Given the description of an element on the screen output the (x, y) to click on. 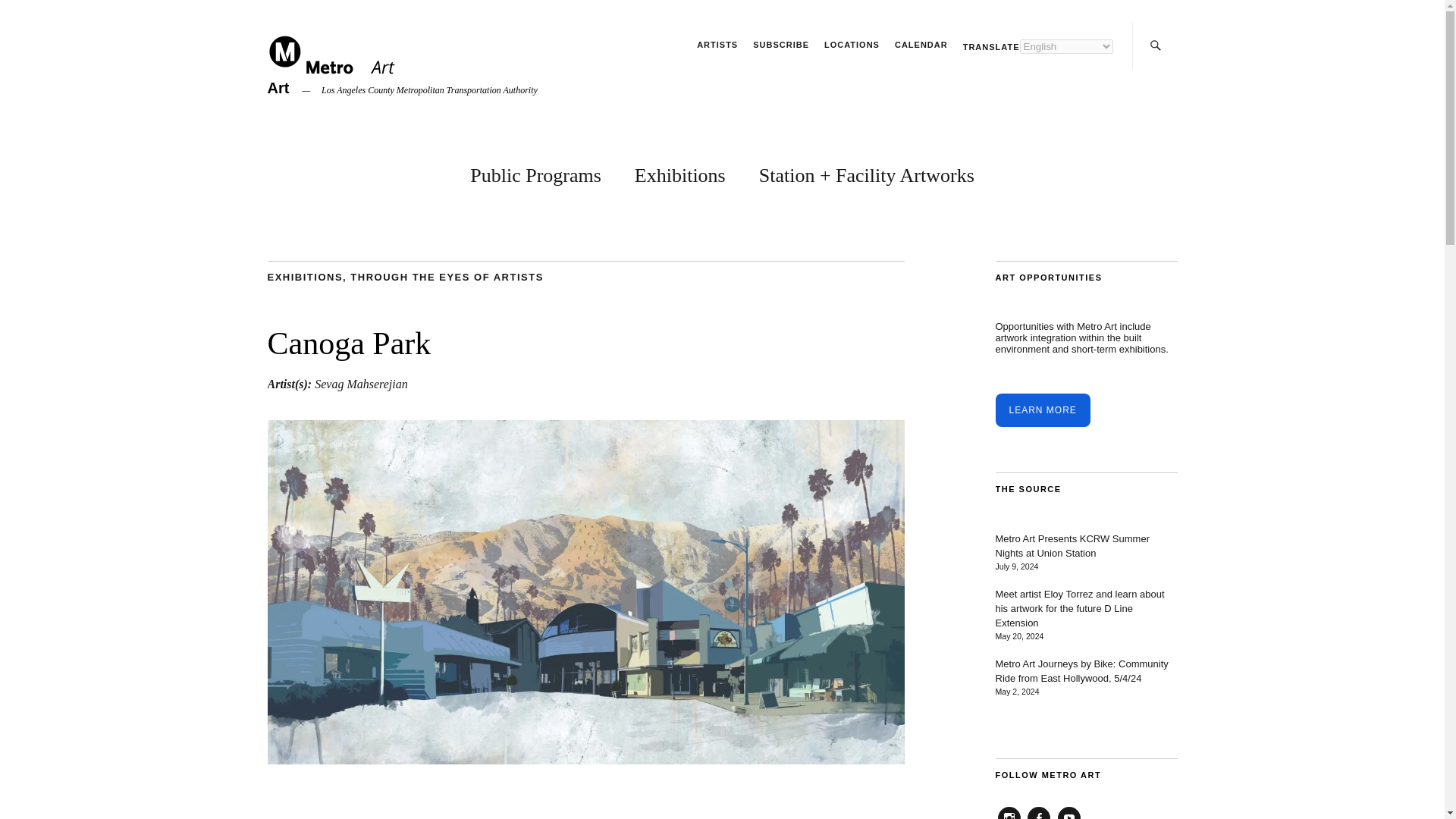
Exhibitions (679, 172)
Art (277, 87)
Sevag Mahserejian (360, 383)
LOCATIONS (851, 44)
Public Programs (535, 172)
EXHIBITIONS (304, 276)
ARTISTS (717, 44)
Art (277, 87)
THROUGH THE EYES OF ARTISTS (446, 276)
CALENDAR (921, 44)
SUBSCRIBE (780, 44)
Permalink to Canoga Park (585, 759)
